Given the description of an element on the screen output the (x, y) to click on. 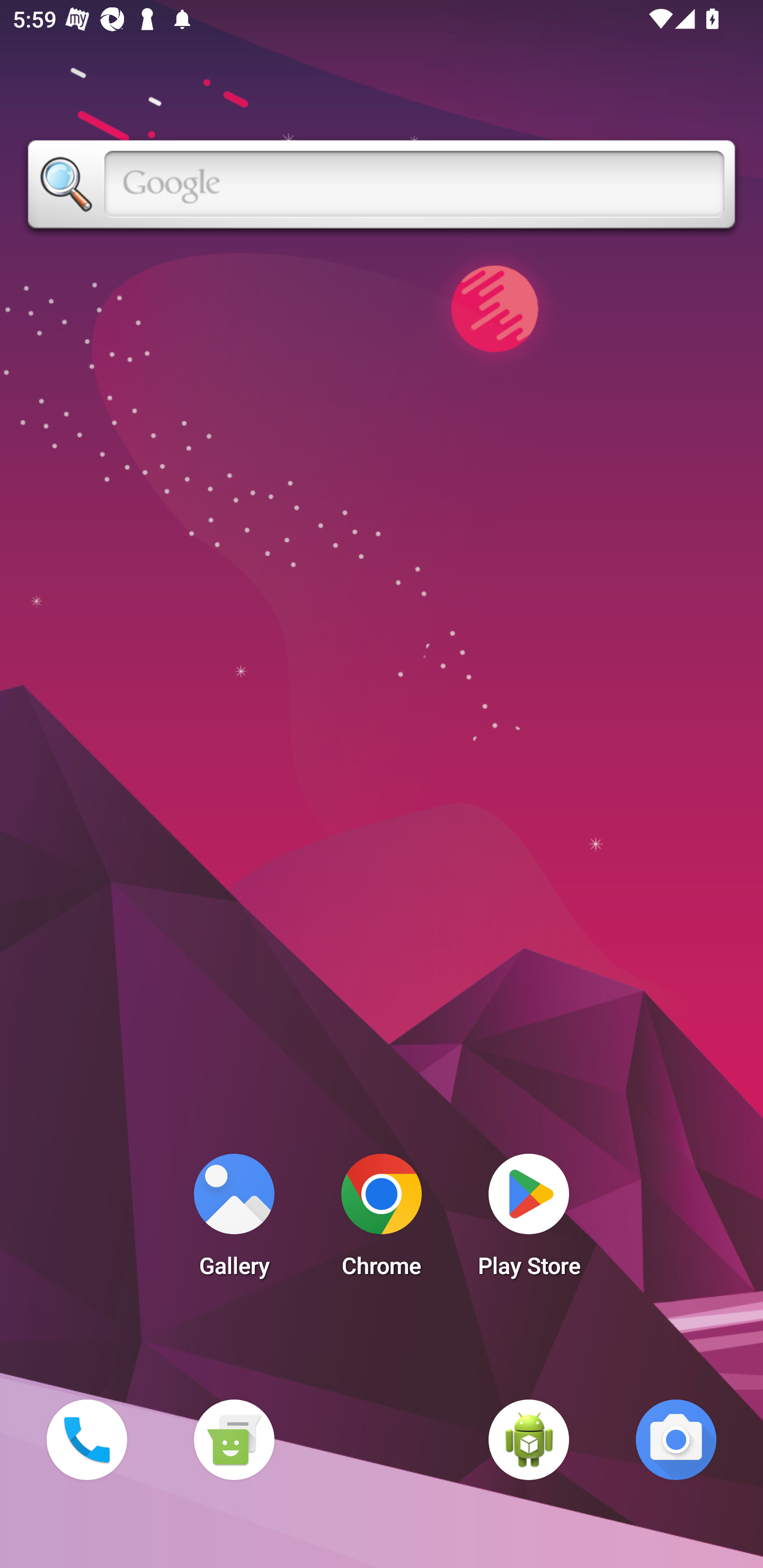
Gallery (233, 1220)
Chrome (381, 1220)
Play Store (528, 1220)
Phone (86, 1439)
Messaging (233, 1439)
WebView Browser Tester (528, 1439)
Camera (676, 1439)
